Given the description of an element on the screen output the (x, y) to click on. 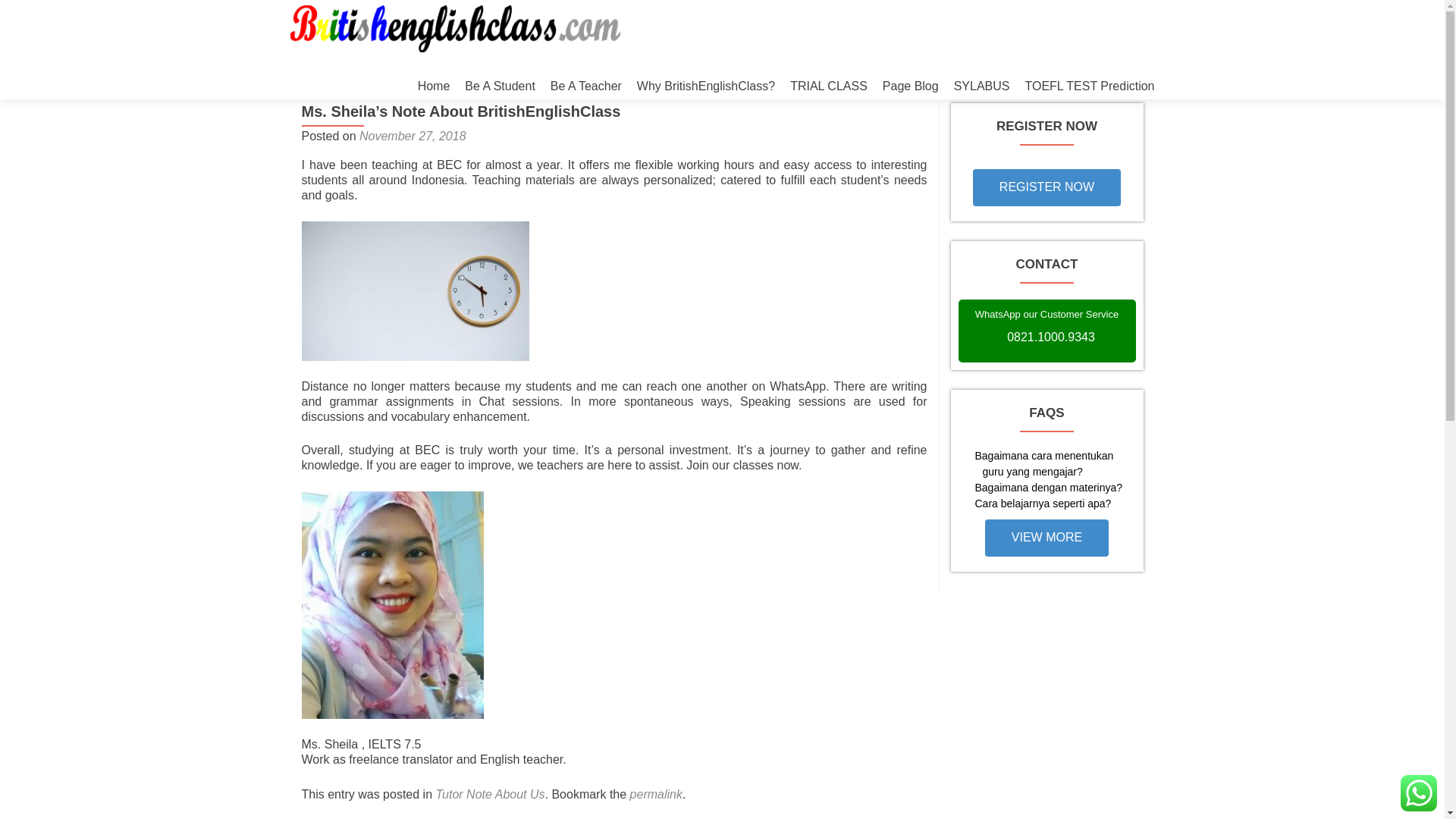
permalink (656, 793)
REGISTER NOW (1046, 186)
November 27, 2018 (412, 135)
Home (433, 85)
TRIAL CLASS (828, 85)
SYLABUS (981, 85)
TOEFL TEST Prediction (1089, 85)
Tutor Note About Us (489, 793)
Be A Teacher (585, 85)
Page Blog (910, 85)
